Given the description of an element on the screen output the (x, y) to click on. 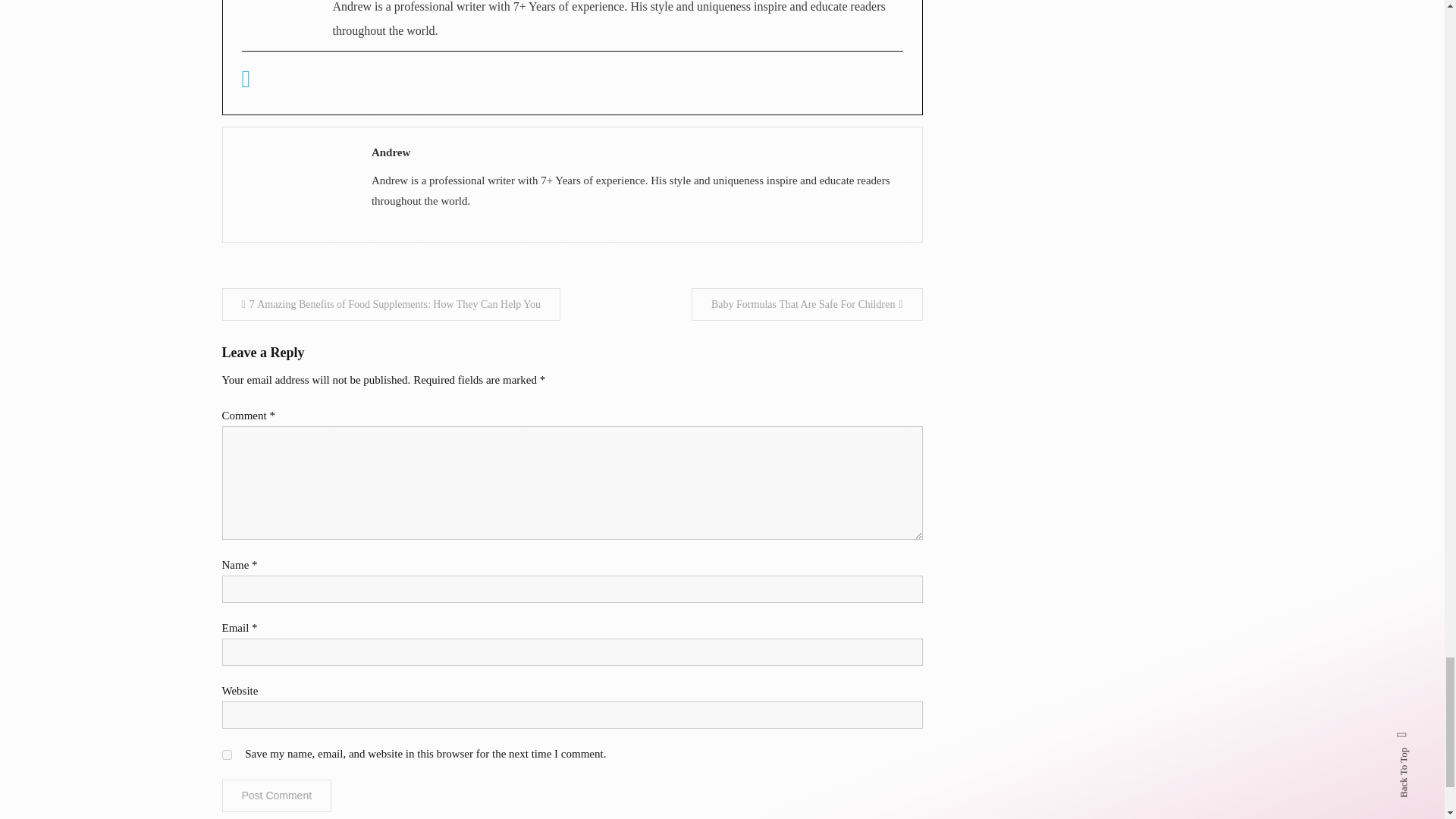
Andrew (639, 152)
yes (226, 755)
Post Comment (276, 795)
Baby Formulas That Are Safe For Children (807, 304)
Post Comment (276, 795)
